Given the description of an element on the screen output the (x, y) to click on. 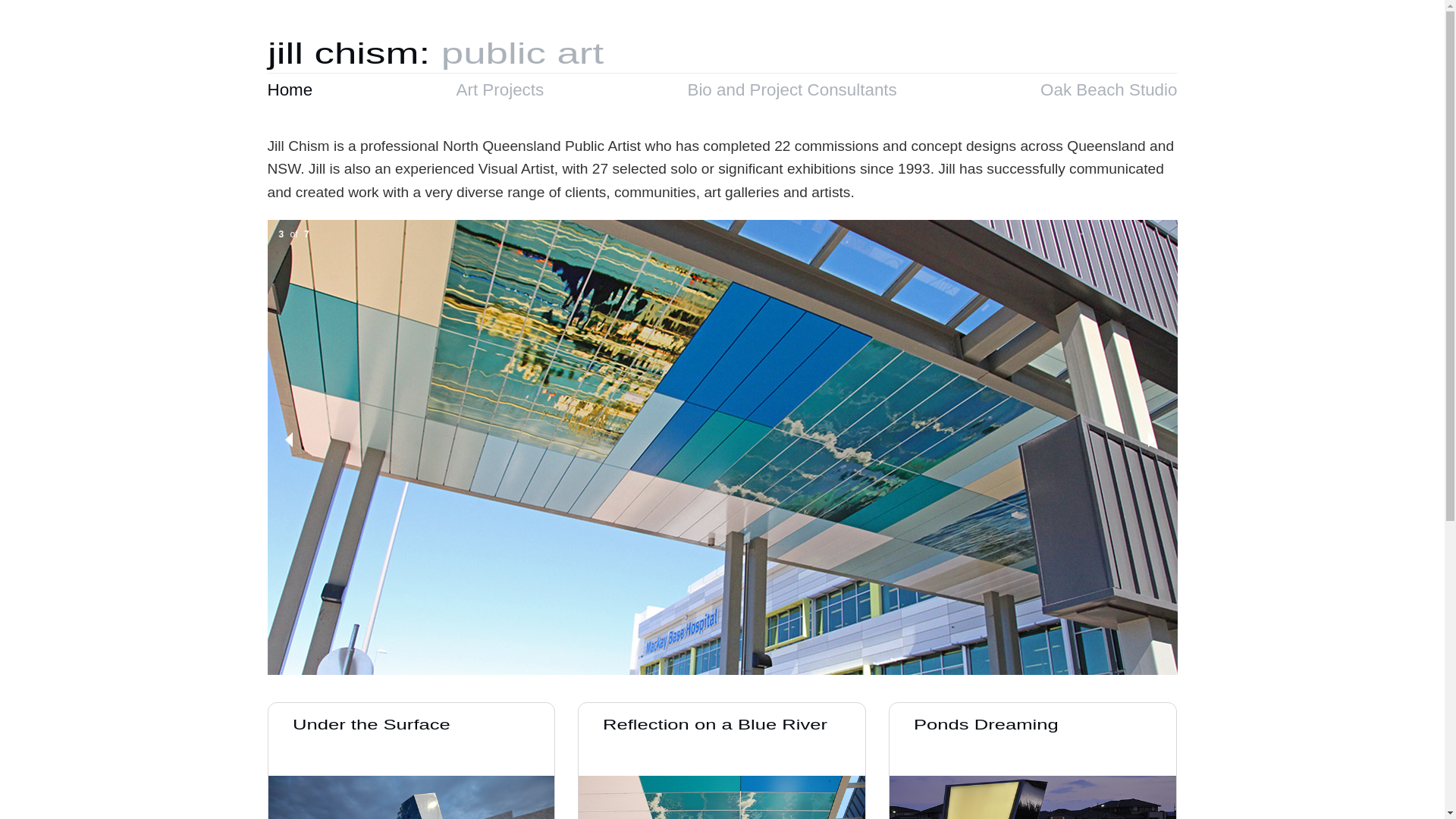
Reflection on a Blue River Element type: text (742, 729)
Under the Surface Element type: text (390, 729)
Bio and Project Consultants Element type: text (791, 89)
jill chism:
public art Element type: text (406, 53)
Home Element type: text (289, 89)
Oak Beach Studio Element type: text (1108, 89)
Art Projects Element type: text (499, 89)
Ponds Dreaming Element type: text (1003, 729)
